Given the description of an element on the screen output the (x, y) to click on. 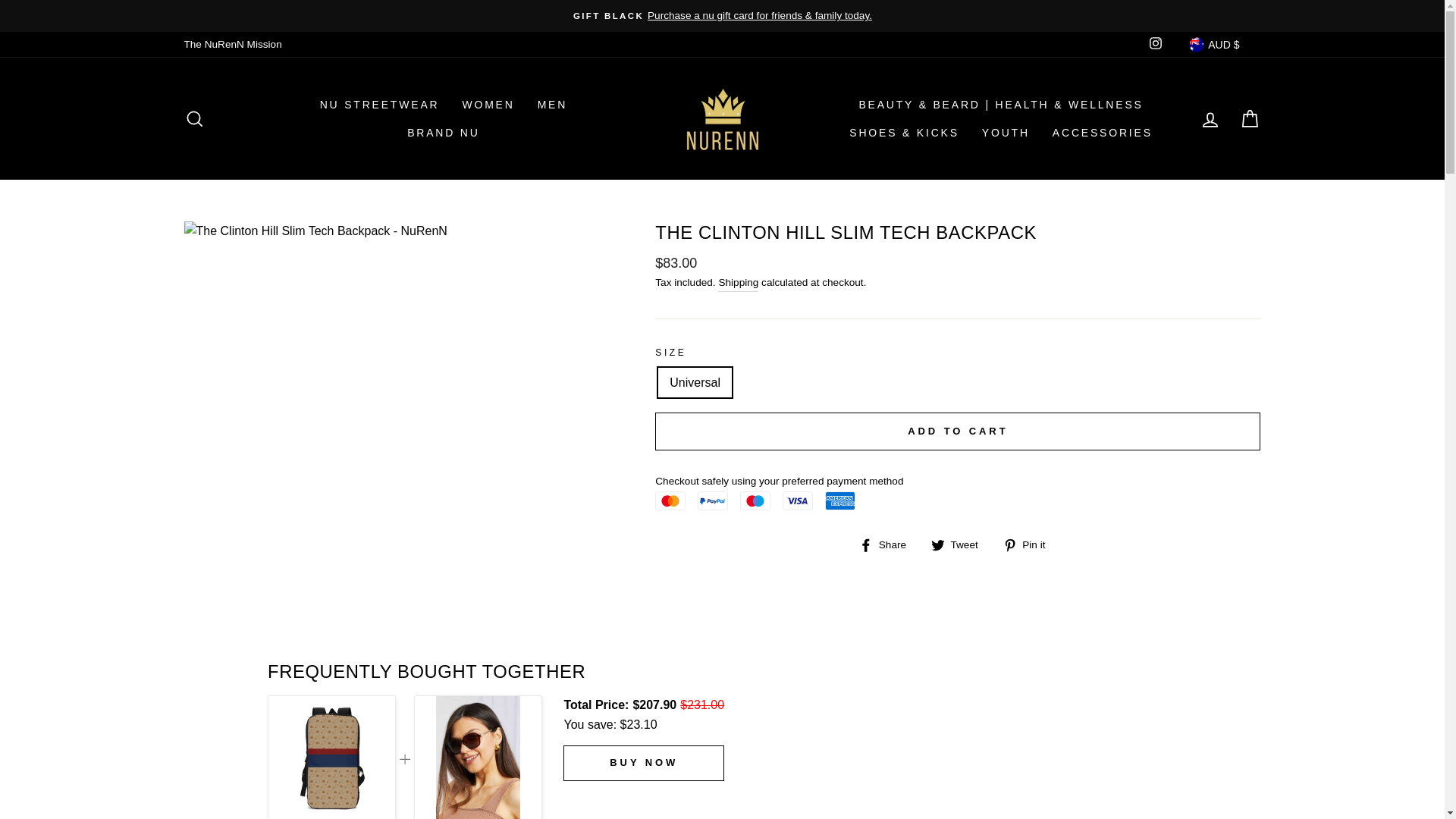
Tweet on Twitter (960, 544)
Pin on Pinterest (1030, 544)
NuRenN on Instagram (1155, 44)
TAC Polarization Lens Full Rim Sunglasses (477, 757)
The Clinton Hill Slim Tech Backpack (330, 757)
Share on Facebook (888, 544)
